Given the description of an element on the screen output the (x, y) to click on. 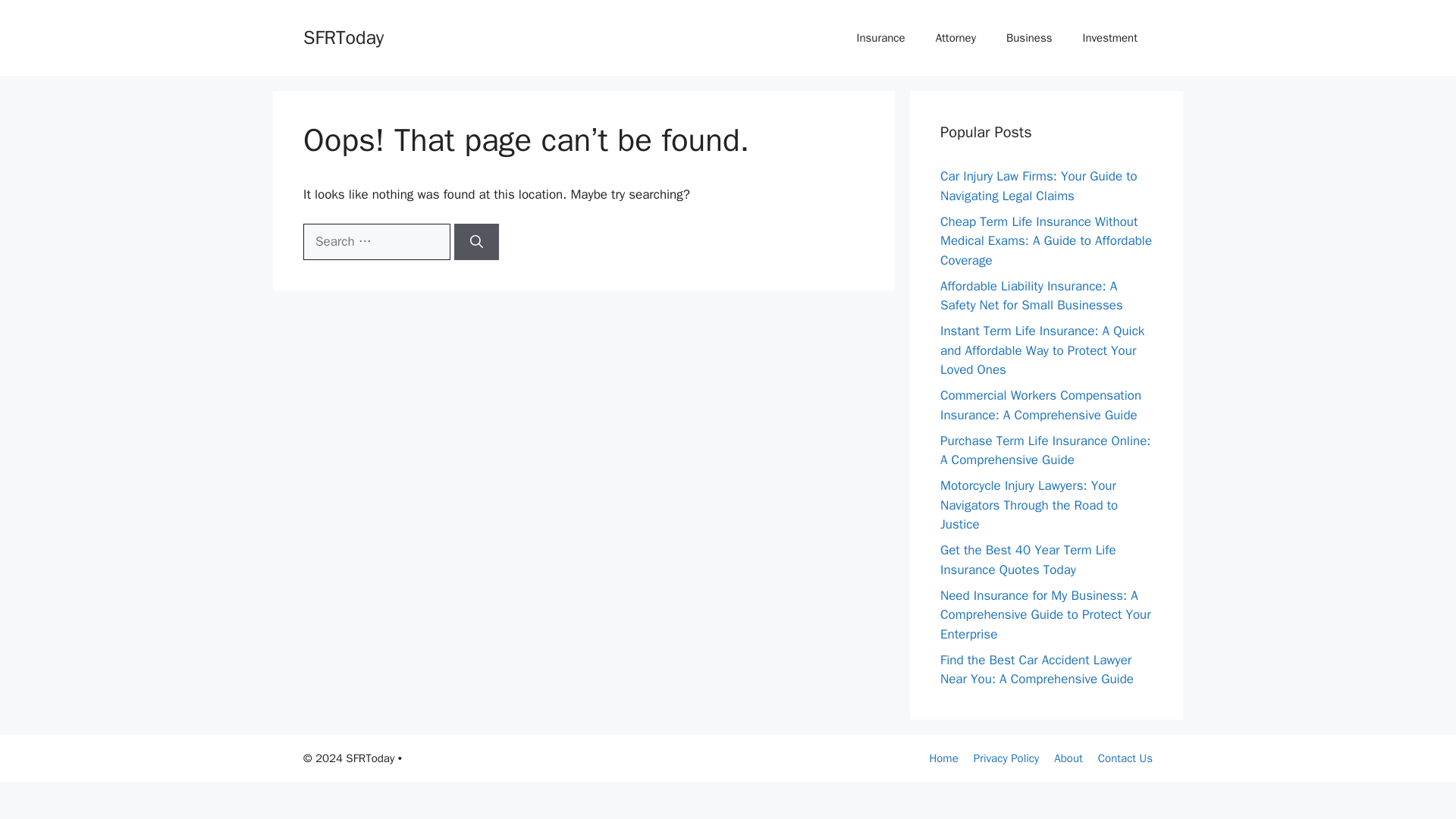
Car Injury Law Firms: Your Guide to Navigating Legal Claims (1038, 185)
Investment (1110, 37)
Privacy Policy (1006, 757)
Purchase Term Life Insurance Online: A Comprehensive Guide (1045, 449)
Get the Best 40 Year Term Life Insurance Quotes Today (1028, 560)
Insurance (880, 37)
SFRToday (343, 37)
Attorney (955, 37)
About (1067, 757)
